Given the description of an element on the screen output the (x, y) to click on. 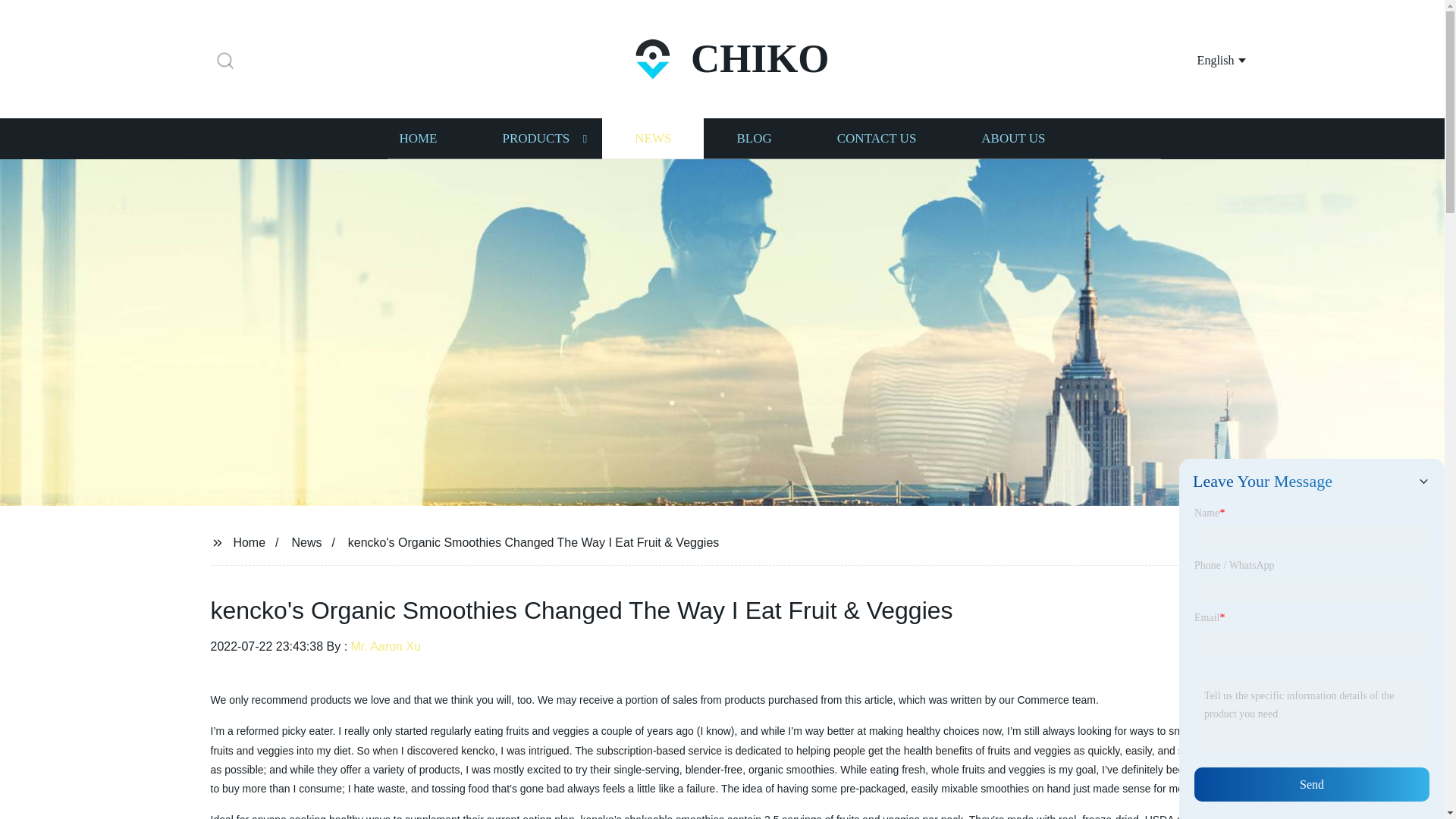
News (306, 541)
English (1203, 59)
Home (248, 541)
PRODUCTS (535, 137)
BLOG (753, 137)
CONTACT US (877, 137)
HOME (417, 137)
ABOUT US (1013, 137)
English (1203, 59)
Top (1404, 779)
NEWS (652, 137)
